Given the description of an element on the screen output the (x, y) to click on. 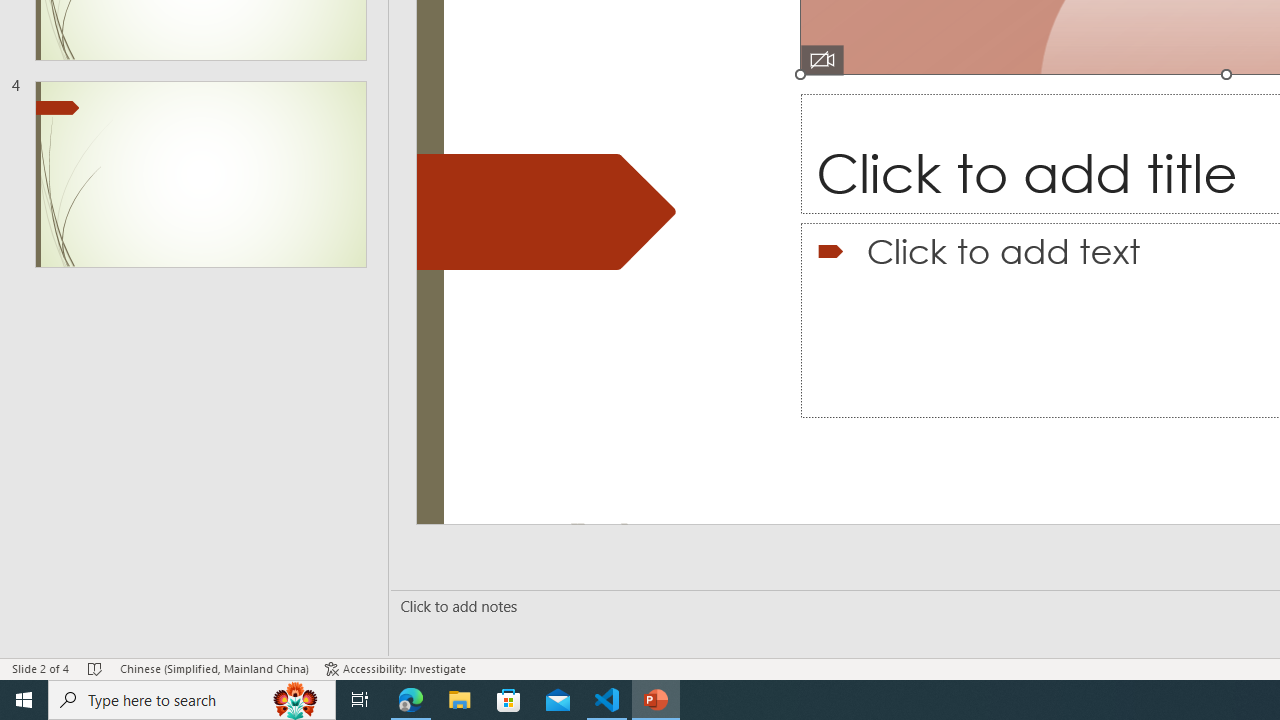
Decorative Locked (546, 212)
